Given the description of an element on the screen output the (x, y) to click on. 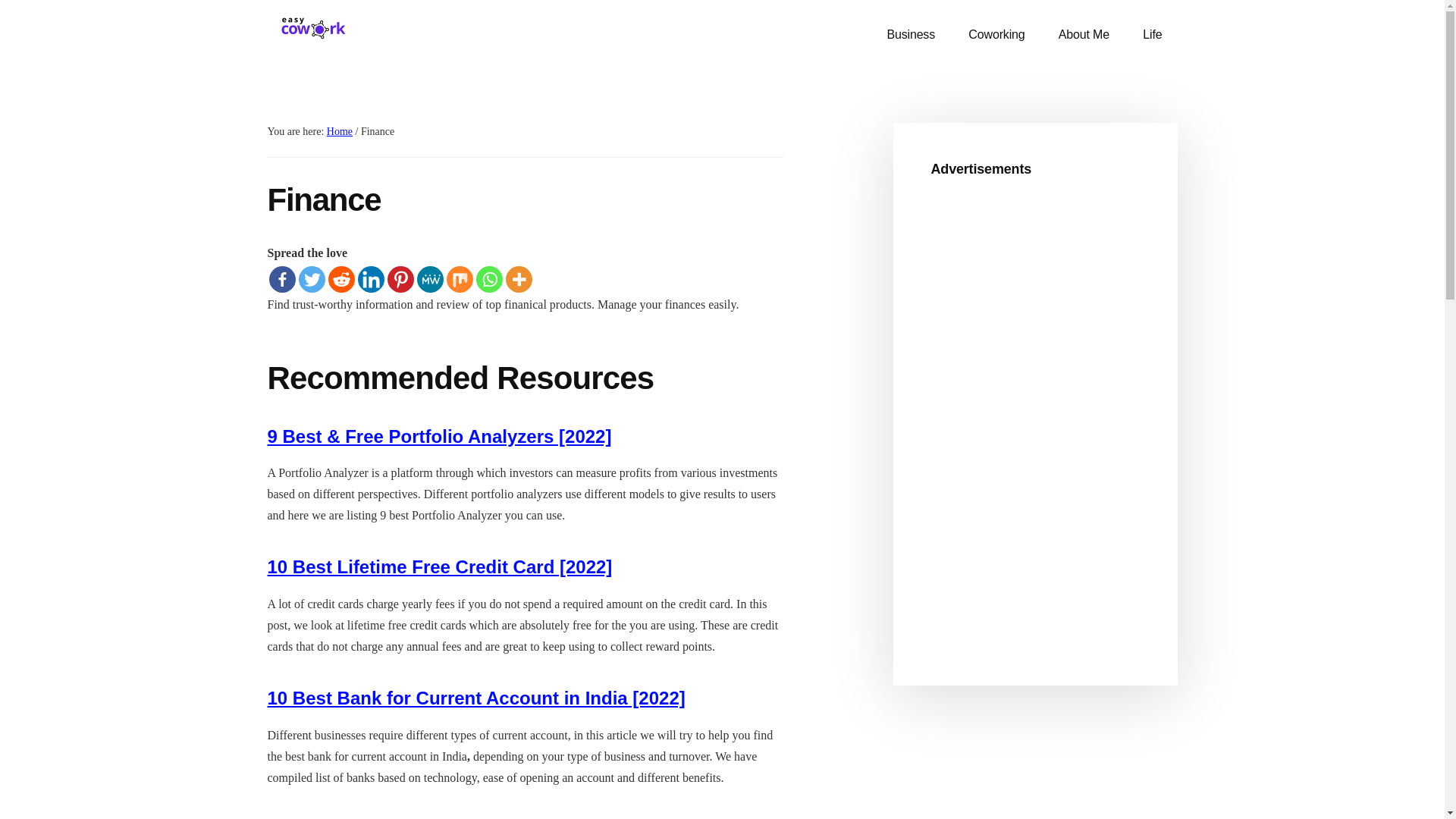
Mix (458, 278)
Reddit (340, 278)
Home (339, 131)
Facebook (281, 278)
Life (1151, 34)
Twitter (311, 278)
Coworking (996, 34)
Business (910, 34)
Pinterest (400, 278)
Whatsapp (489, 278)
MeWe (430, 278)
About Me (1083, 34)
Linkedin (371, 278)
More (518, 278)
